Given the description of an element on the screen output the (x, y) to click on. 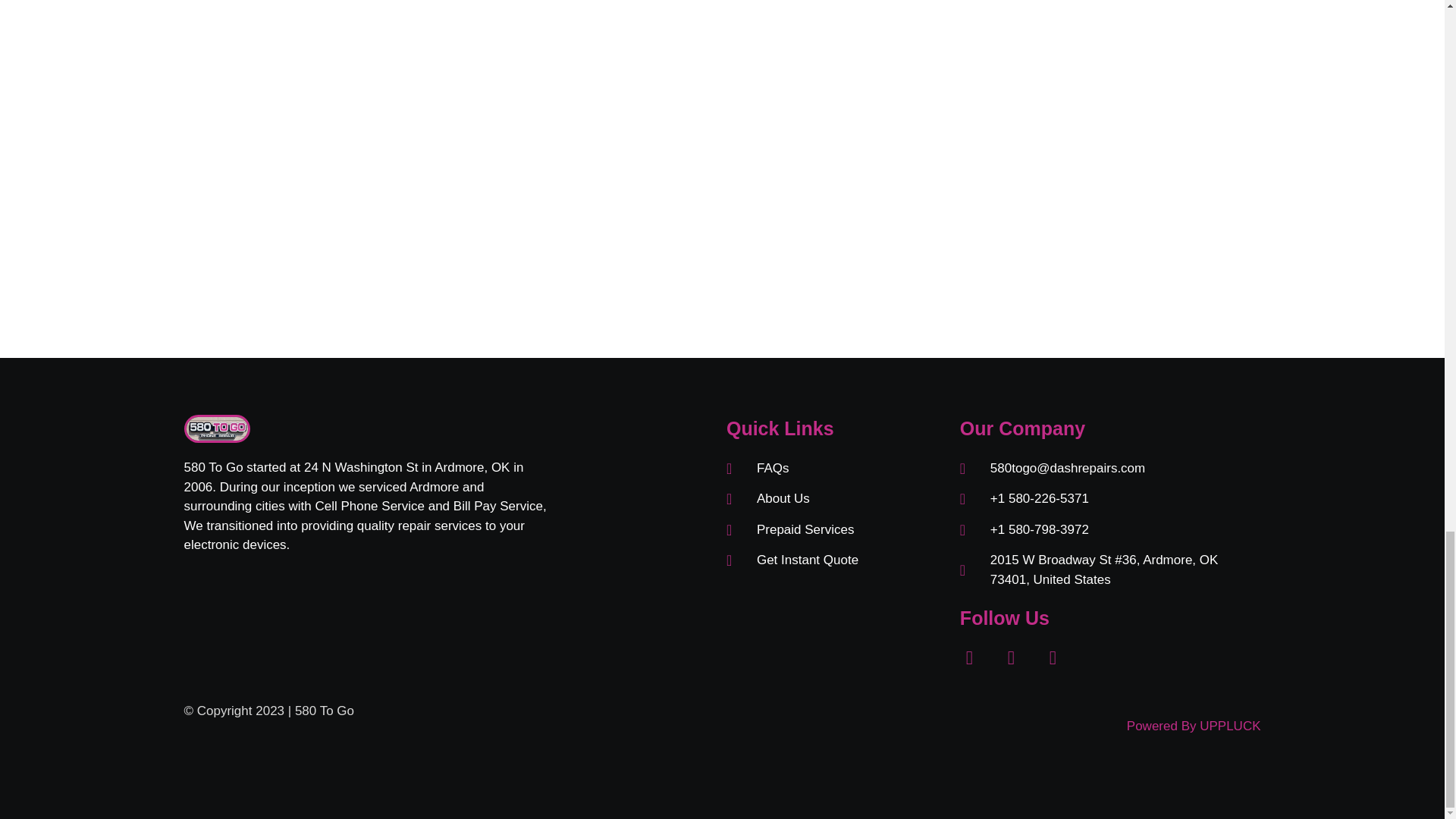
About Us (835, 498)
FAQs (835, 468)
Get Instant Quote (835, 560)
Powered By UPPLUCK (1193, 726)
Prepaid Services (835, 529)
